Given the description of an element on the screen output the (x, y) to click on. 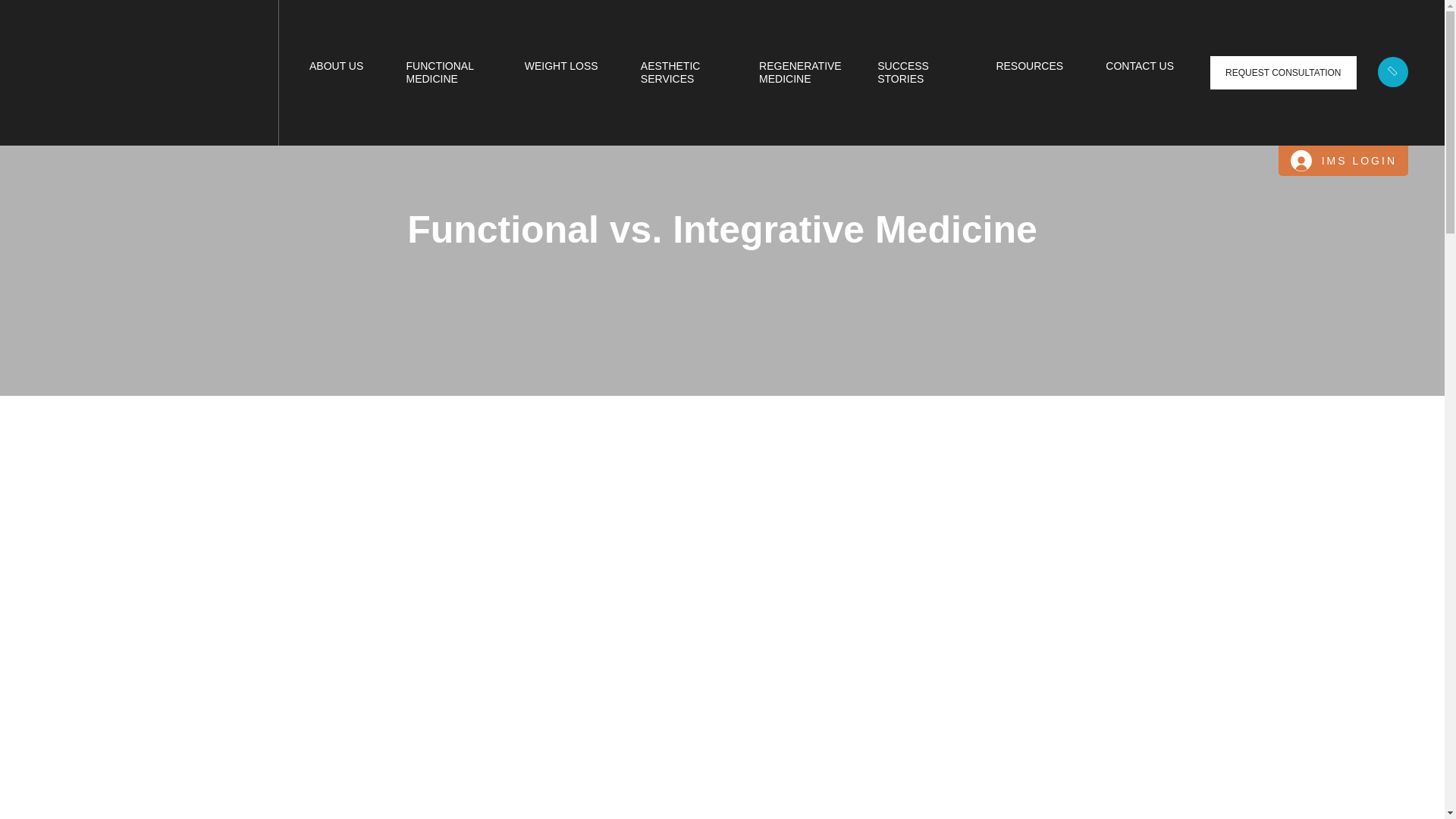
ABOUT US (335, 65)
Ageless Wellness Center (148, 72)
IV VITAMIN THERAPY (267, 69)
Myers Cocktail (274, 69)
Myers Cocktail (274, 69)
ADRENAL DYSFUNCTION TREATMENT (570, 69)
IV Vitamin Therapy (267, 69)
Adrenal Dysfunction Treatment (570, 69)
CARDIOVASCULAR HEALTH TREATMENT (1176, 69)
